Given the description of an element on the screen output the (x, y) to click on. 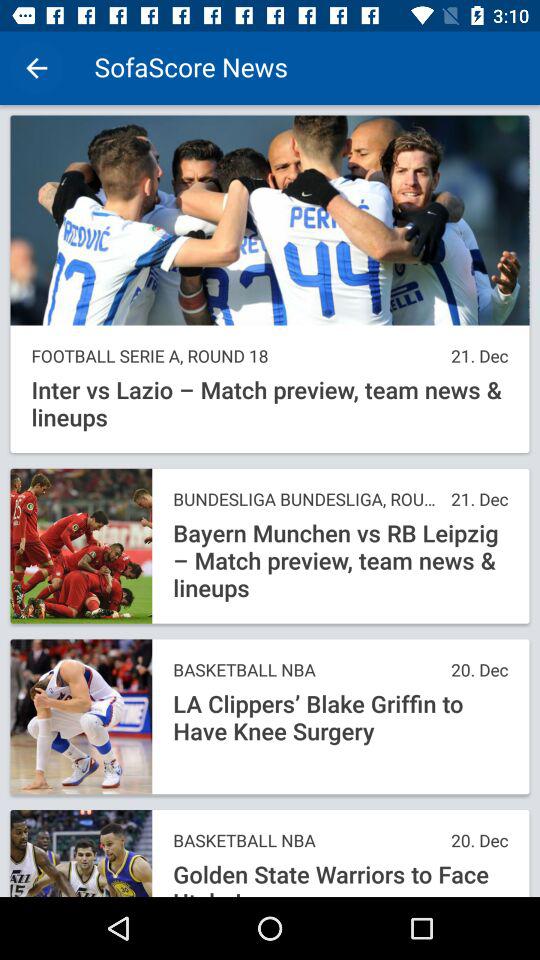
turn off the icon at the top left corner (36, 68)
